Given the description of an element on the screen output the (x, y) to click on. 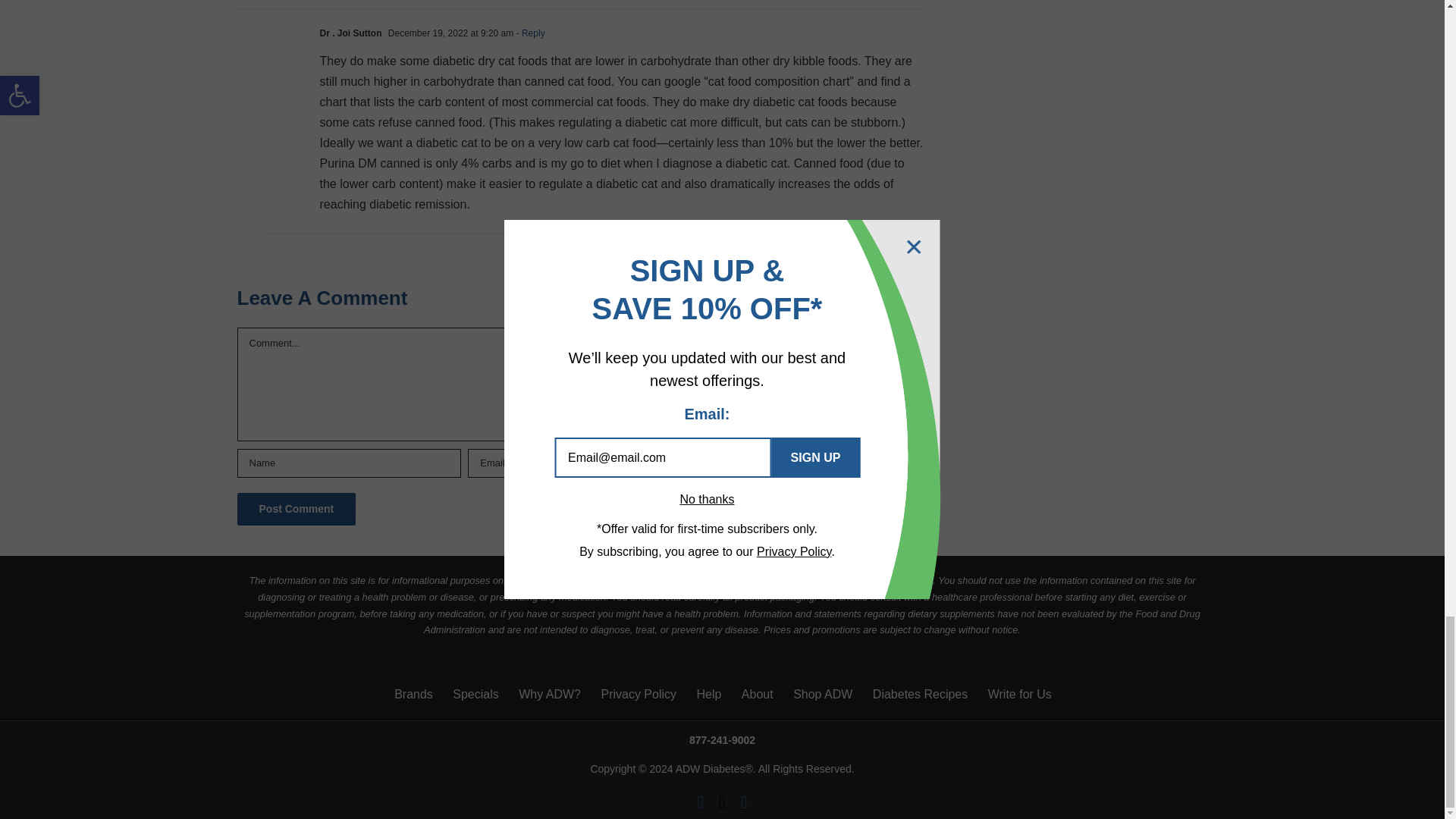
Post Comment (295, 509)
